Given the description of an element on the screen output the (x, y) to click on. 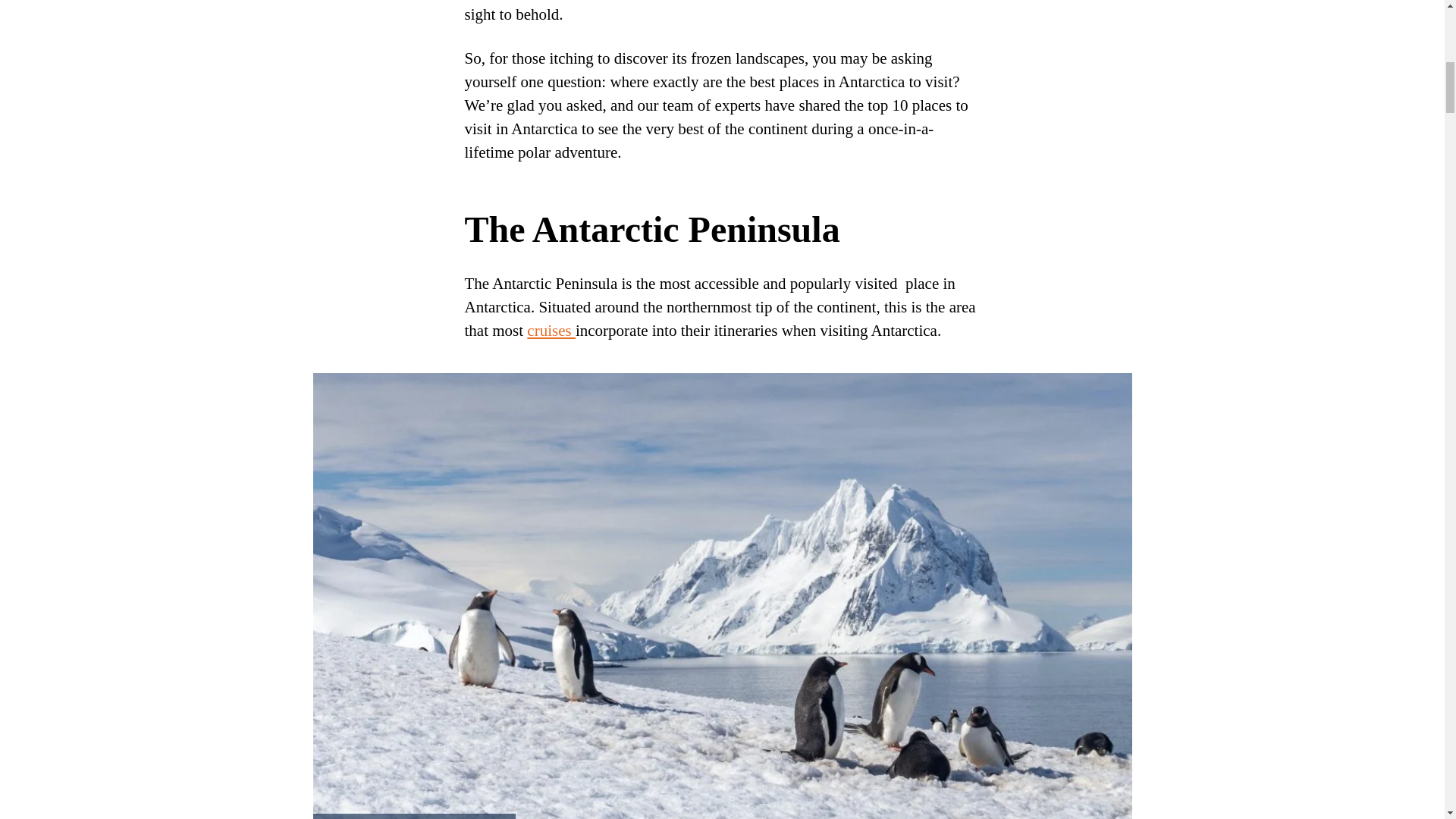
cruises (551, 330)
